Given the description of an element on the screen output the (x, y) to click on. 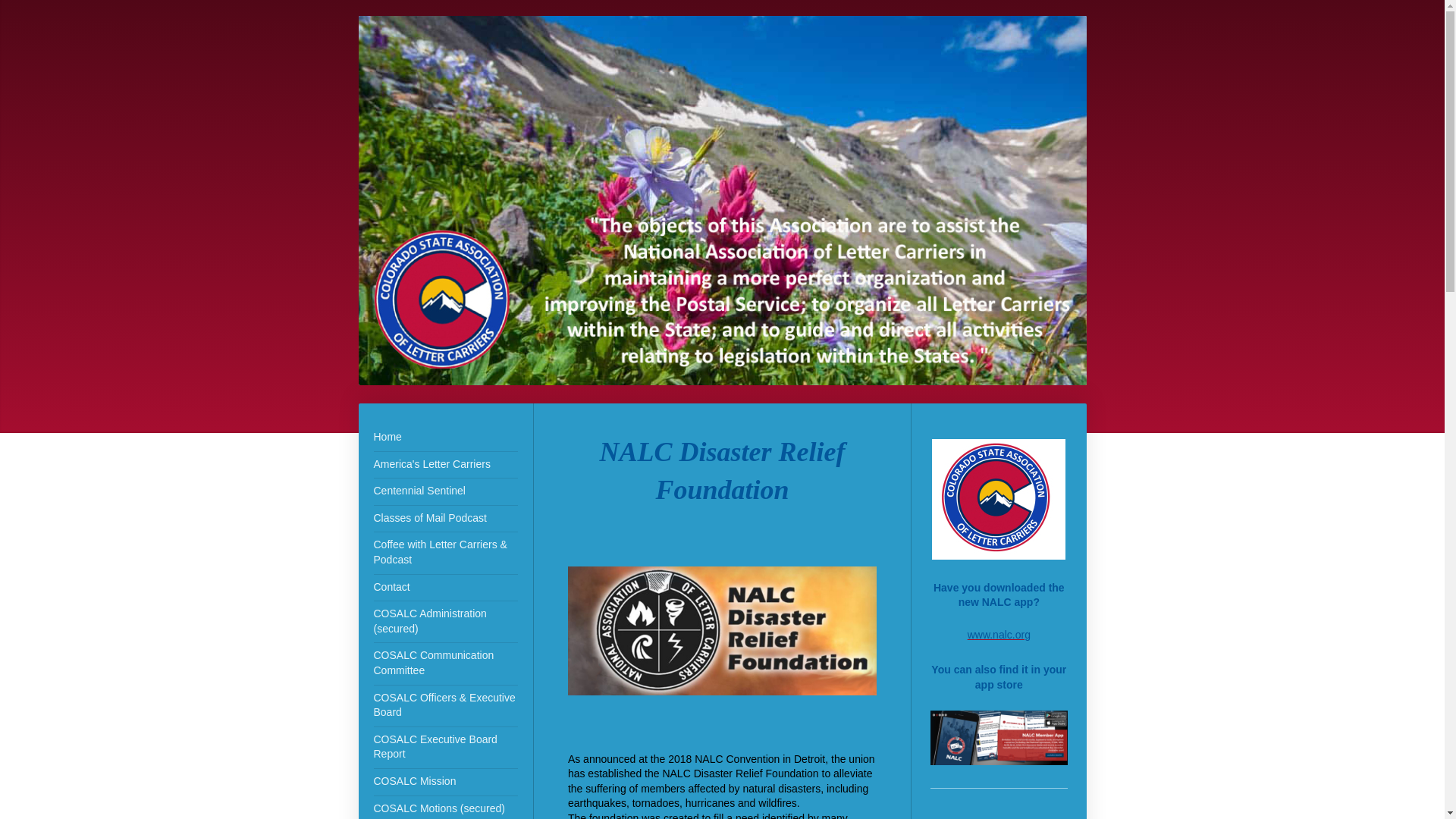
America's Letter Carriers (444, 465)
Home (444, 438)
Centennial Sentinel (444, 491)
